Given the description of an element on the screen output the (x, y) to click on. 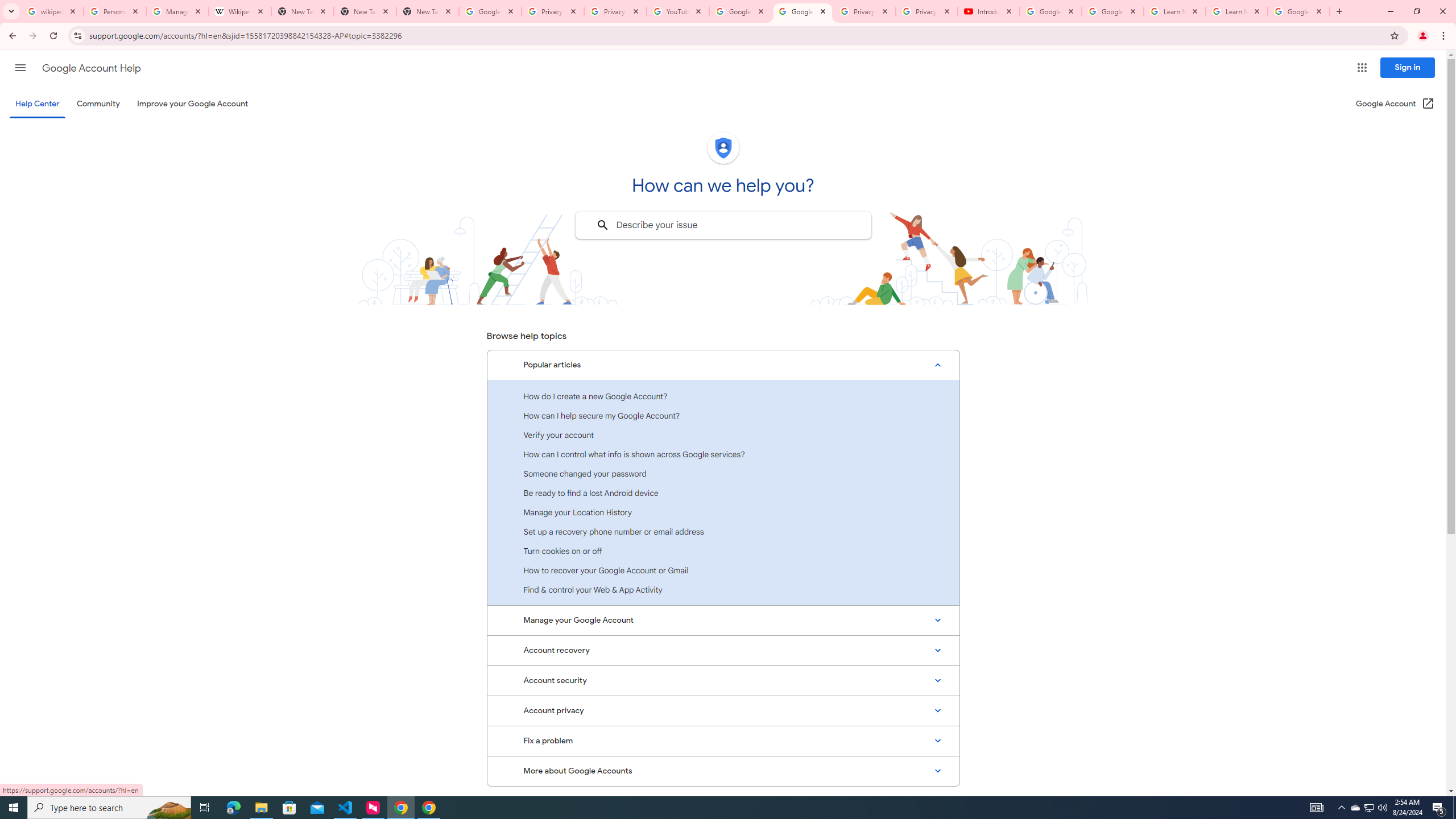
Google Account Help (802, 11)
Account security (722, 680)
Turn cookies on or off (722, 551)
Wikipedia:Edit requests - Wikipedia (239, 11)
Manage your Location History (722, 512)
Describe your issue to find information that might help you. (722, 225)
Popular articles, Expanded list with 11 items (722, 365)
